Given the description of an element on the screen output the (x, y) to click on. 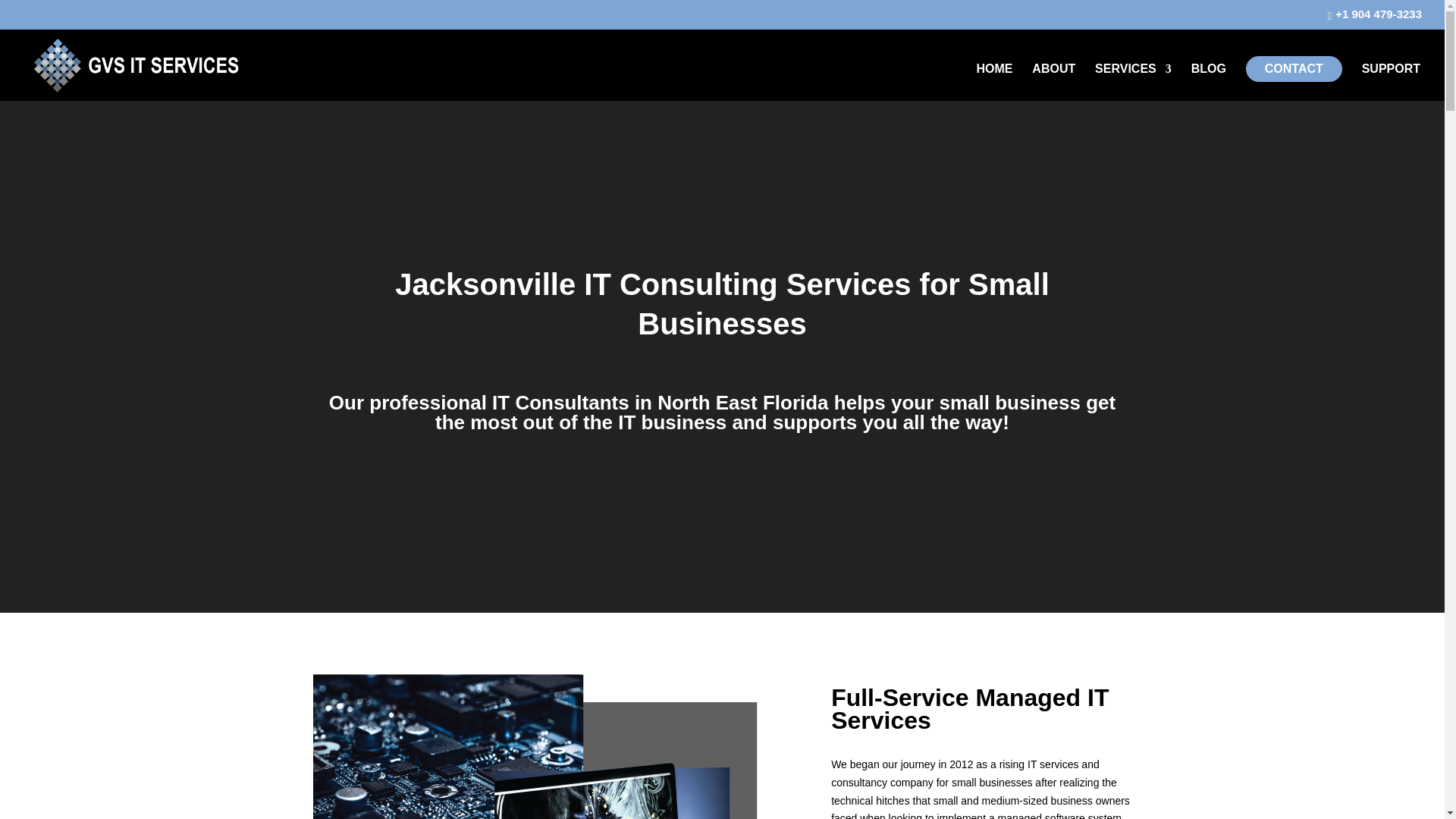
SERVICES (1133, 81)
IT services and consultancy company (965, 773)
CONTACT (1294, 68)
HOME (993, 81)
SUPPORT (1391, 81)
managed software system (1059, 815)
ABOUT (1053, 81)
BLOG (1208, 81)
internet technology (535, 746)
